Given the description of an element on the screen output the (x, y) to click on. 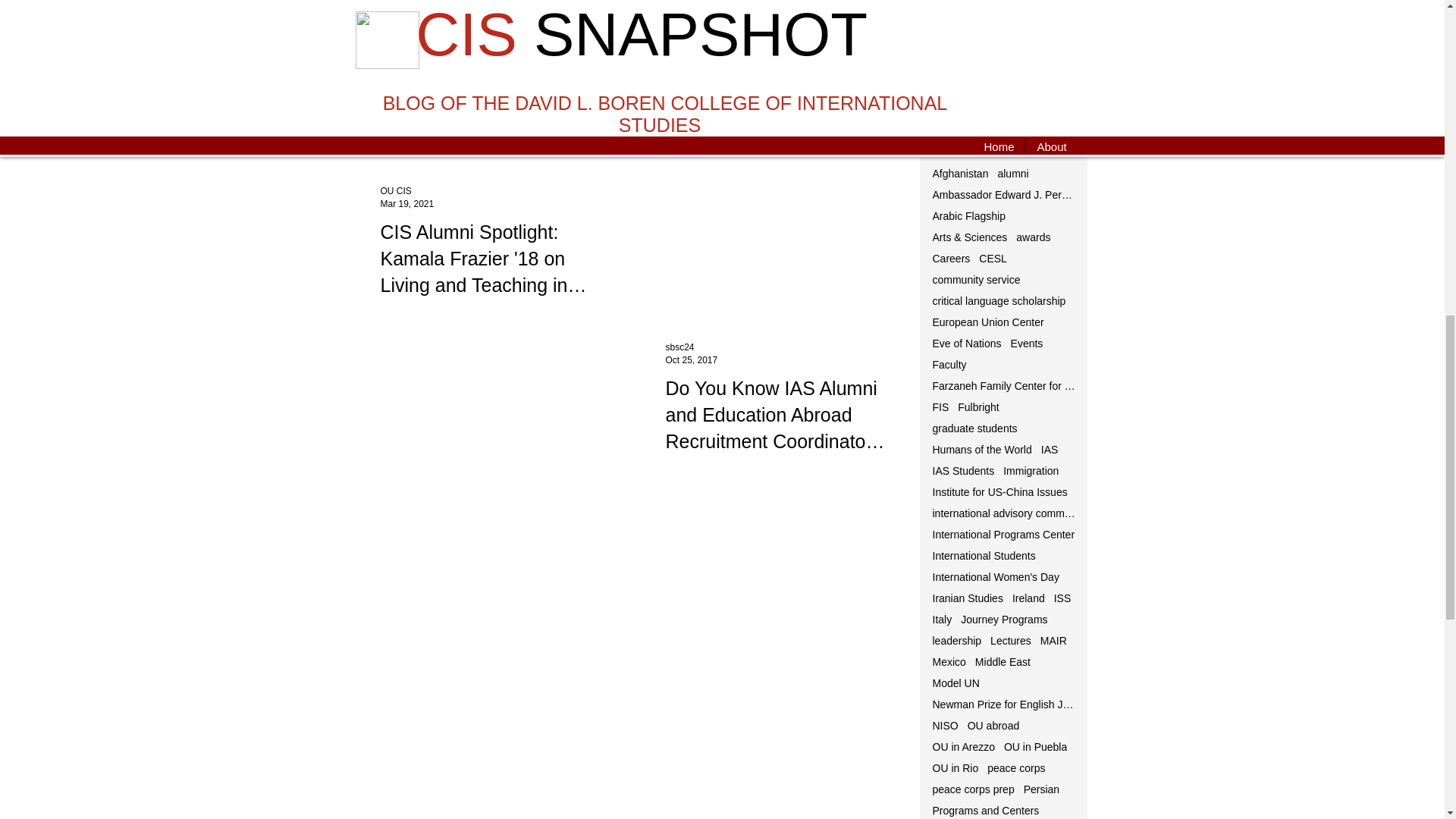
Mar 19, 2021 (406, 204)
Arabic Flagship (969, 215)
FIS (941, 407)
Ambassador Edward J. Perkins (1005, 194)
critical language scholarship (999, 300)
community service (976, 279)
Eve of Nations (967, 343)
awards (1032, 236)
alumni (1012, 173)
Farzaneh Family Center for Iranian and Persian Gulf Studies (1005, 386)
Careers (952, 258)
CESL (992, 258)
graduate students (975, 428)
Fulbright (978, 407)
